Given the description of an element on the screen output the (x, y) to click on. 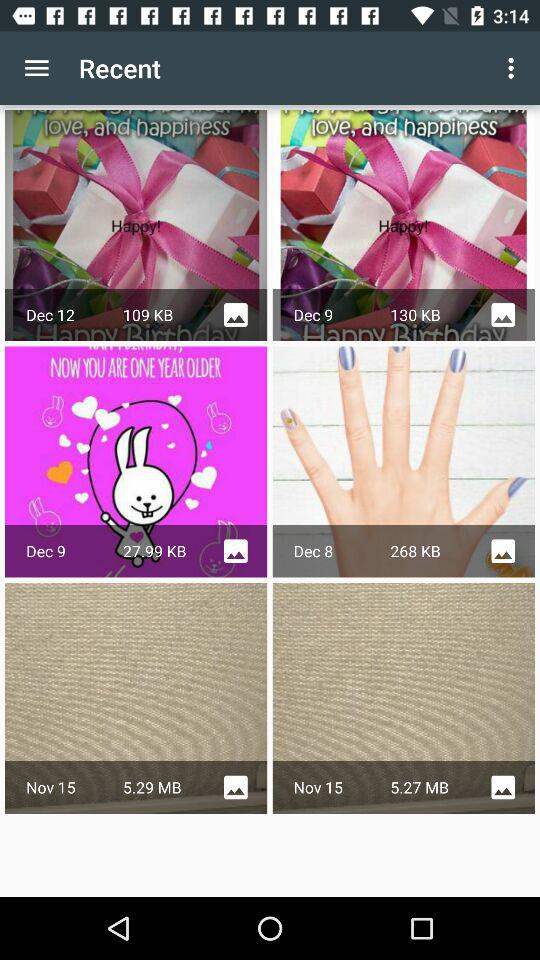
press app next to the recent item (513, 67)
